Given the description of an element on the screen output the (x, y) to click on. 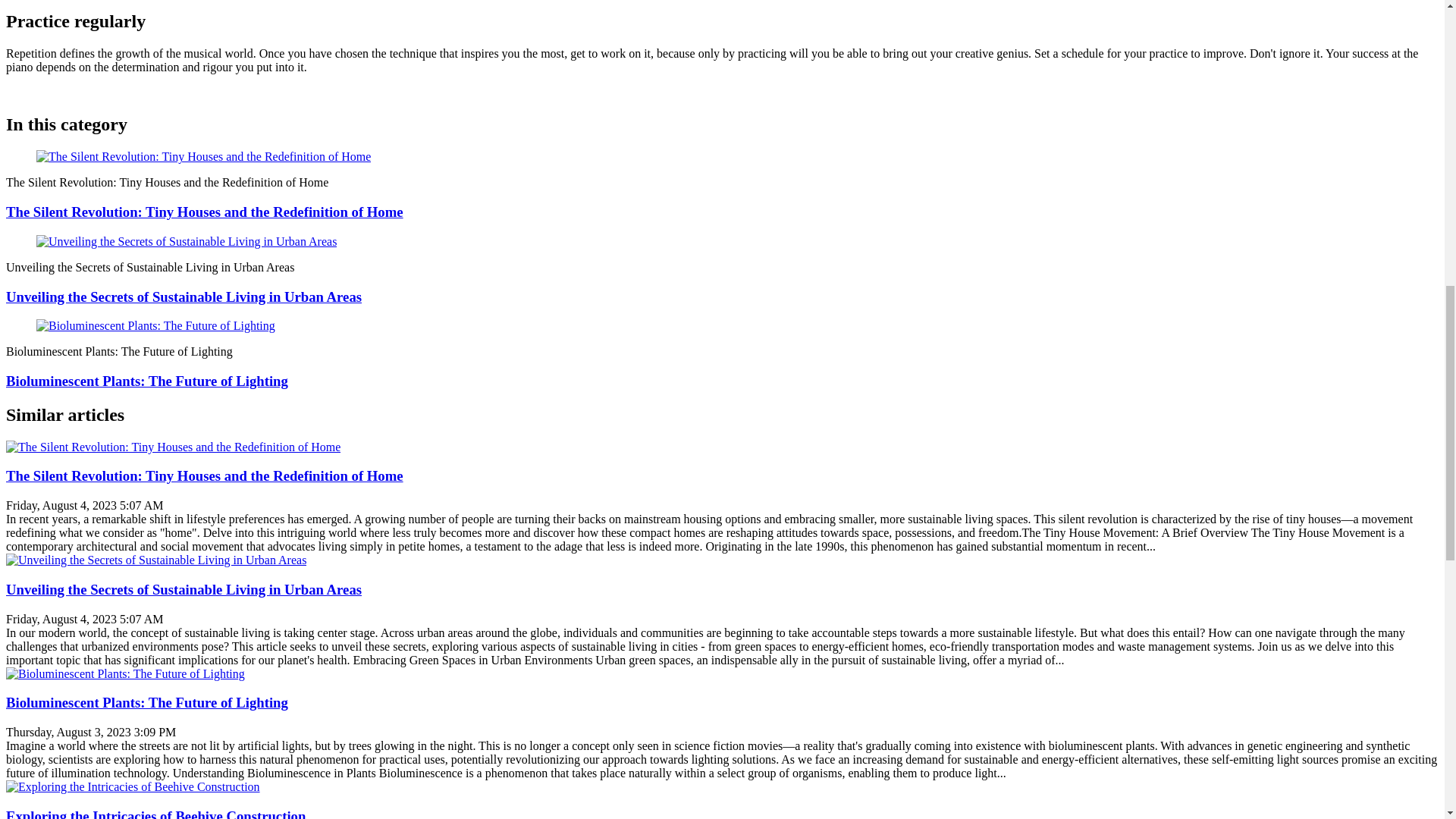
Bioluminescent Plants: The Future of Lighting (146, 381)
Bioluminescent Plants: The Future of Lighting (146, 381)
Unveiling the Secrets of Sustainable Living in Urban Areas (183, 589)
Unveiling the Secrets of Sustainable Living in Urban Areas (183, 295)
Unveiling the Secrets of Sustainable Living in Urban Areas (155, 559)
Bioluminescent Plants: The Future of Lighting (124, 673)
Unveiling the Secrets of Sustainable Living in Urban Areas (186, 241)
